Given the description of an element on the screen output the (x, y) to click on. 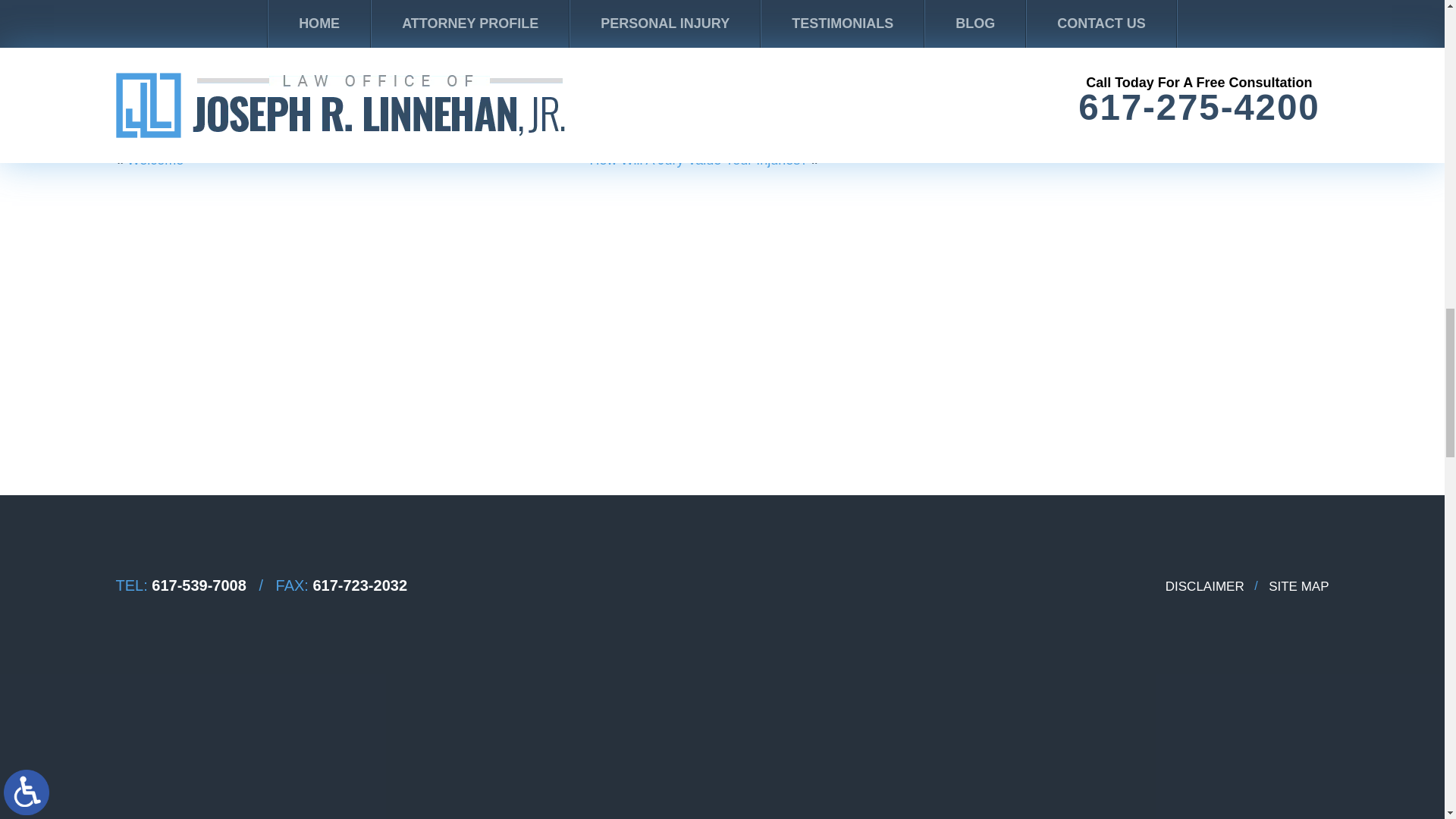
Facebook (121, 98)
LinkedIn (142, 98)
Twitter (131, 98)
2022-03-31T05:51:59-0700 (373, 129)
